Given the description of an element on the screen output the (x, y) to click on. 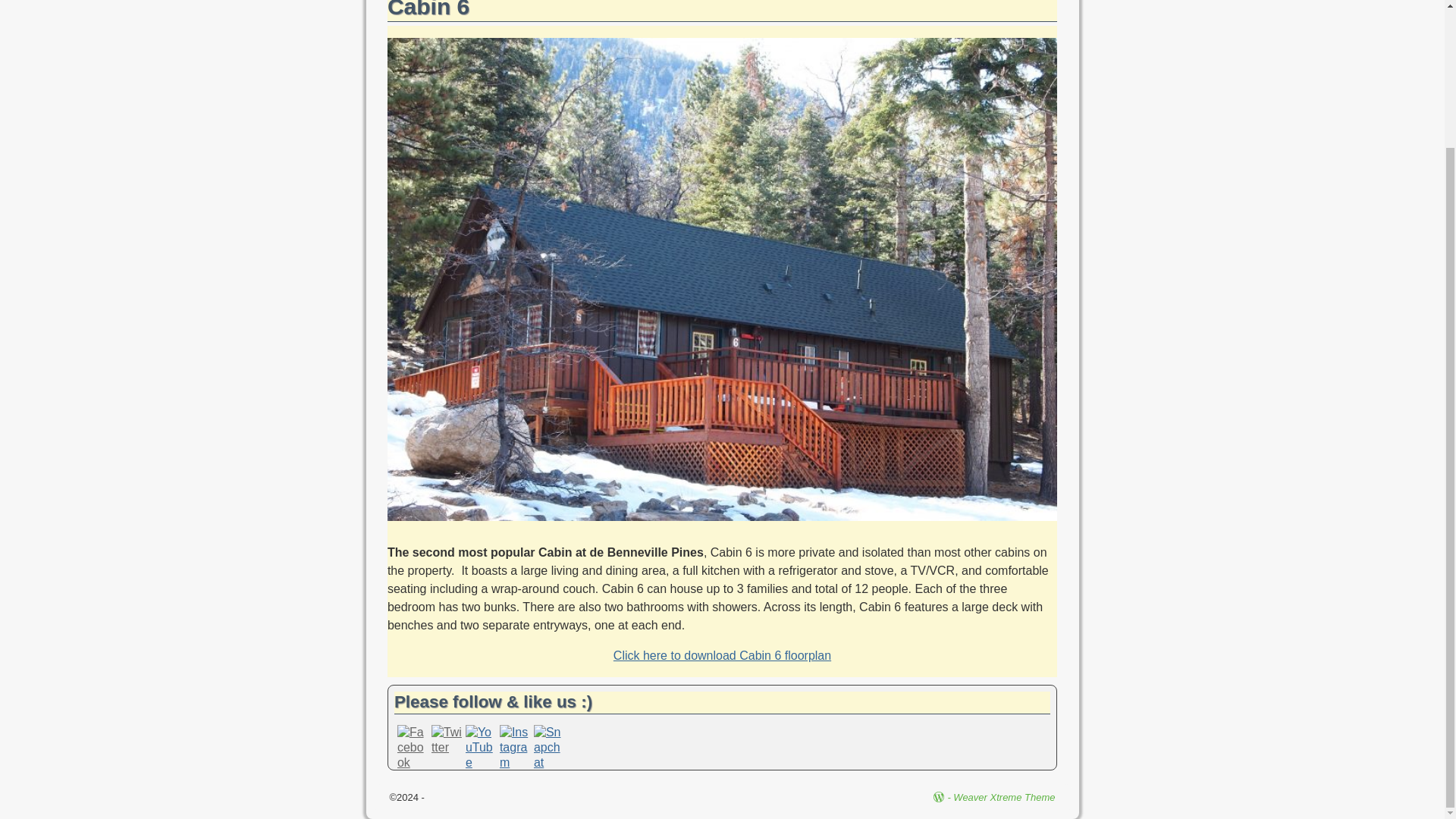
Proudly powered by WordPress (943, 797)
Weaver Xtreme Theme (1003, 797)
Twitter (445, 739)
